Given the description of an element on the screen output the (x, y) to click on. 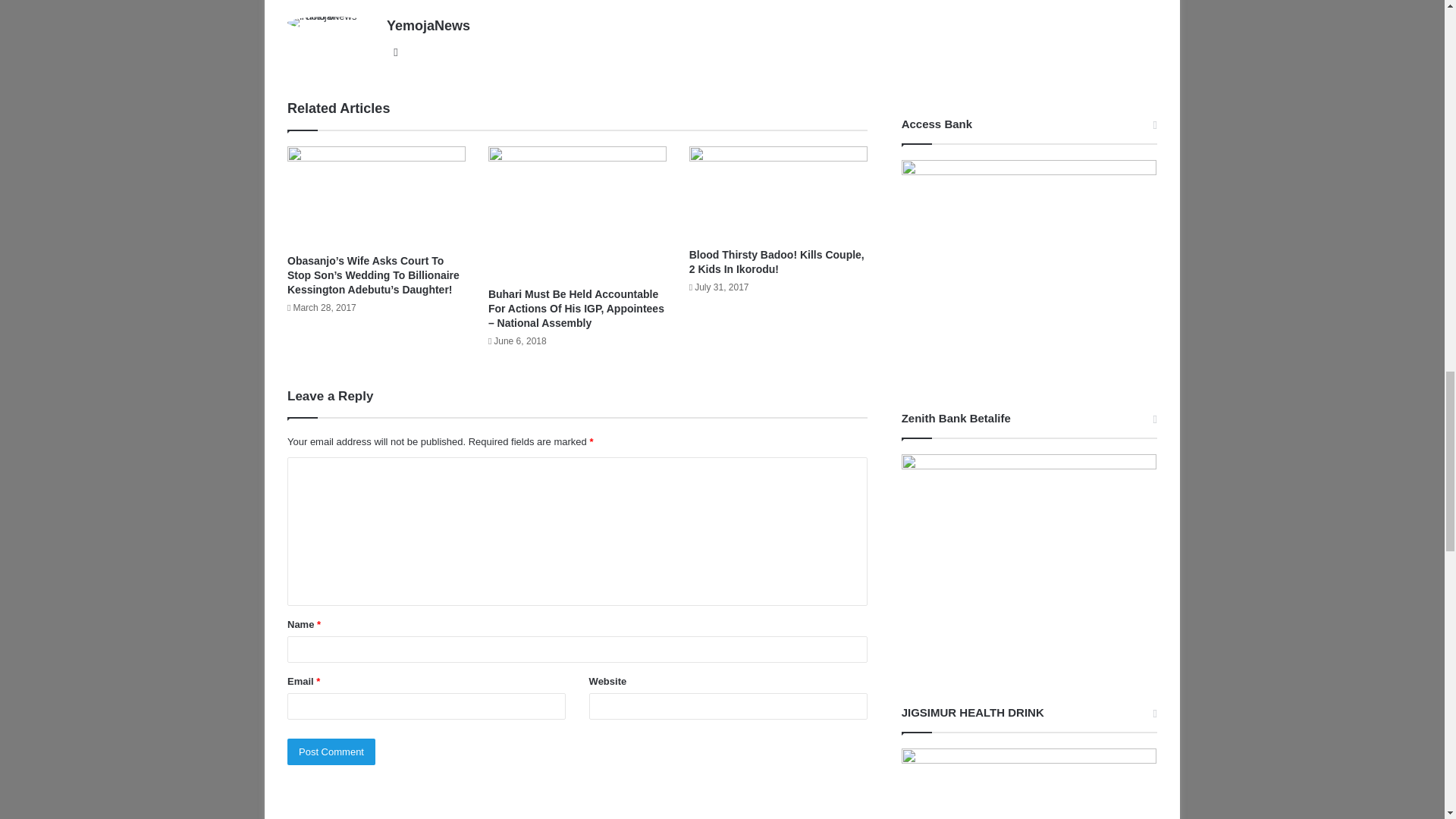
Post Comment (330, 751)
